Given the description of an element on the screen output the (x, y) to click on. 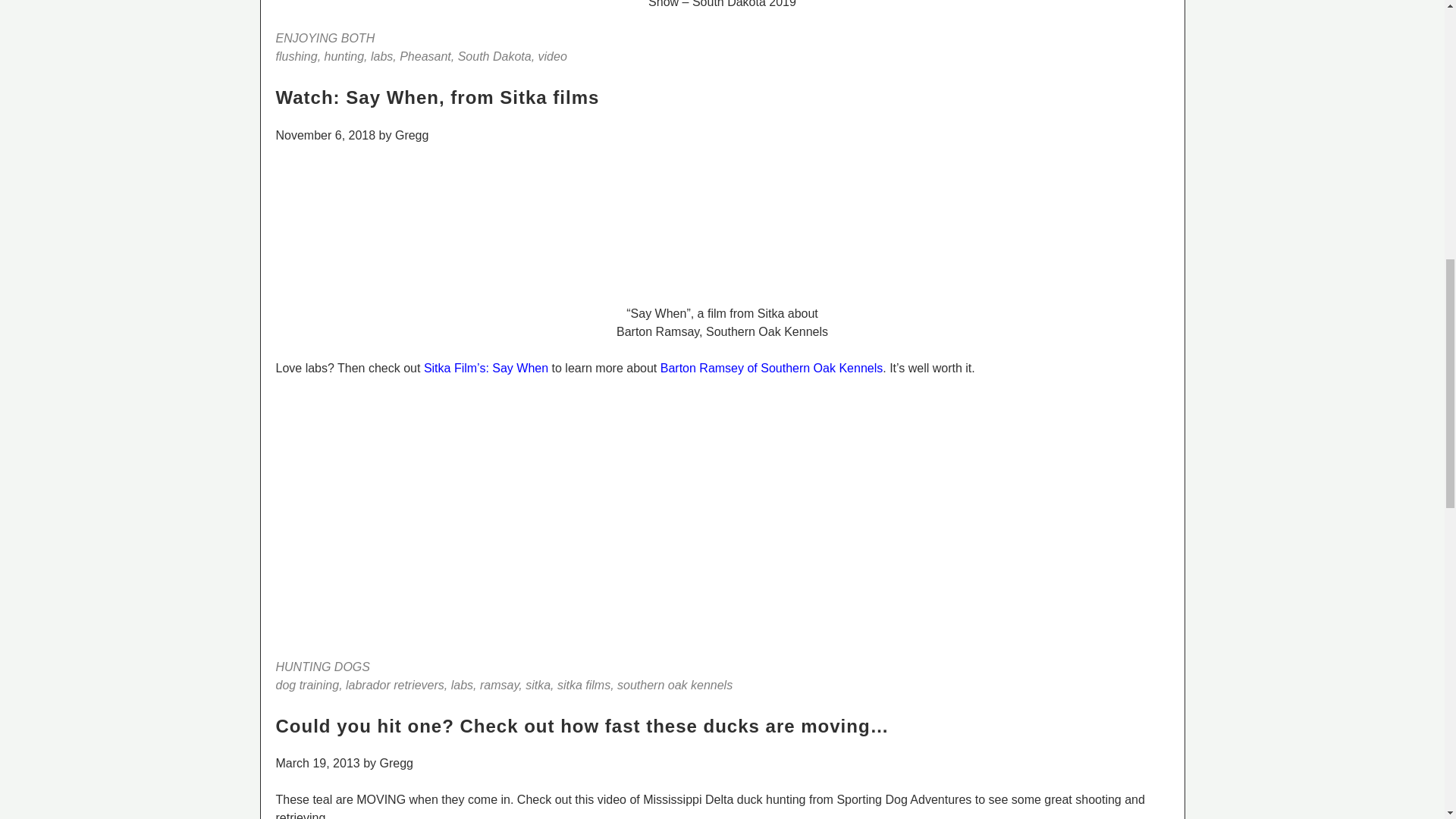
video (552, 56)
Pheasant (424, 56)
Watch: Say When, from Sitka films (437, 96)
ramsay (499, 684)
flushing (296, 56)
labs (462, 684)
dog training (307, 684)
Barton Ramsey of Southern Oak Kennels. (773, 367)
South Dakota (494, 56)
HUNTING DOGS (322, 666)
